Given the description of an element on the screen output the (x, y) to click on. 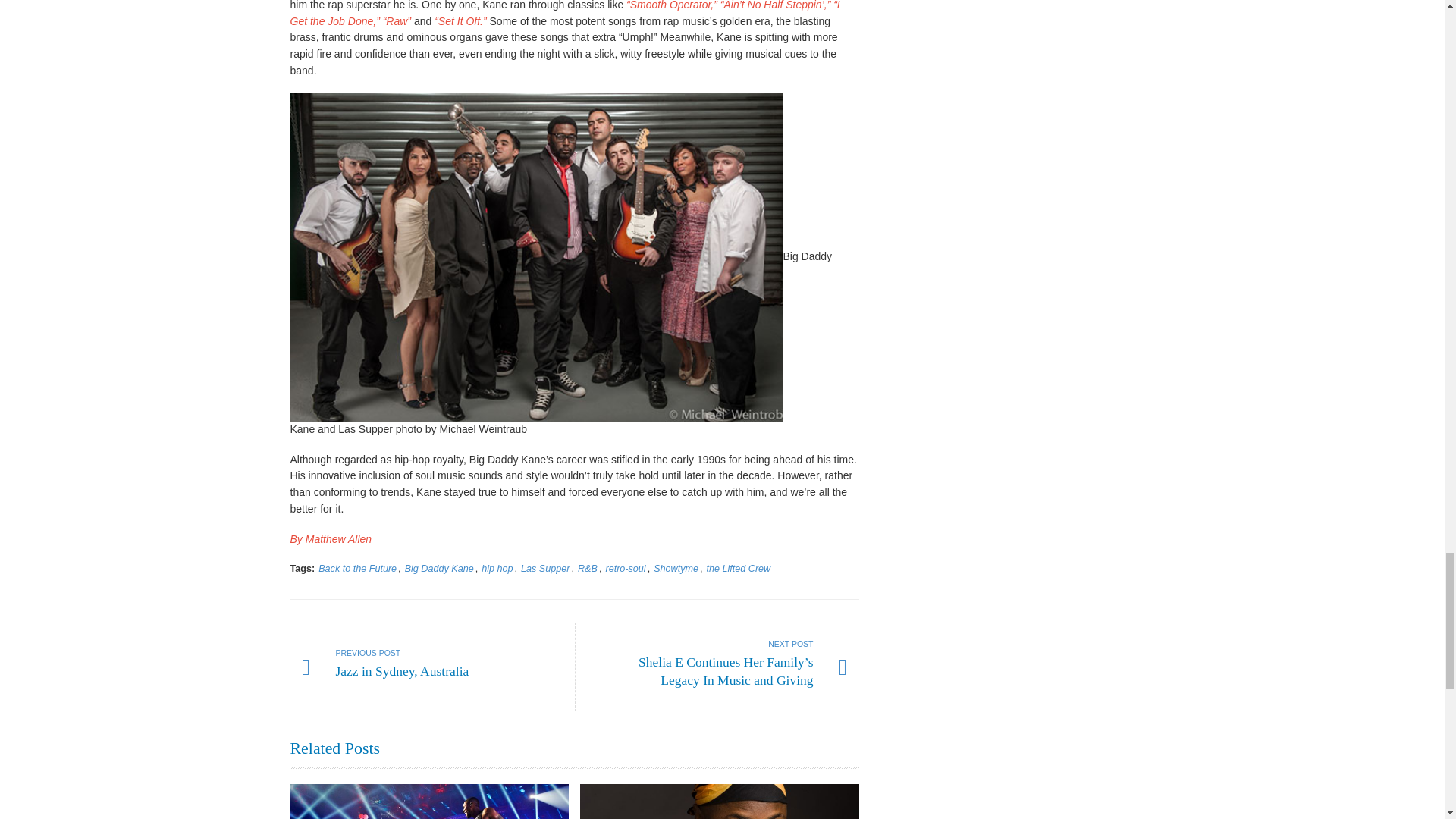
hip hop (496, 568)
Big Daddy Kane (439, 568)
retro-soul (625, 568)
Las Supper (545, 568)
Back to the Future (357, 568)
Showtyme (675, 568)
